Given the description of an element on the screen output the (x, y) to click on. 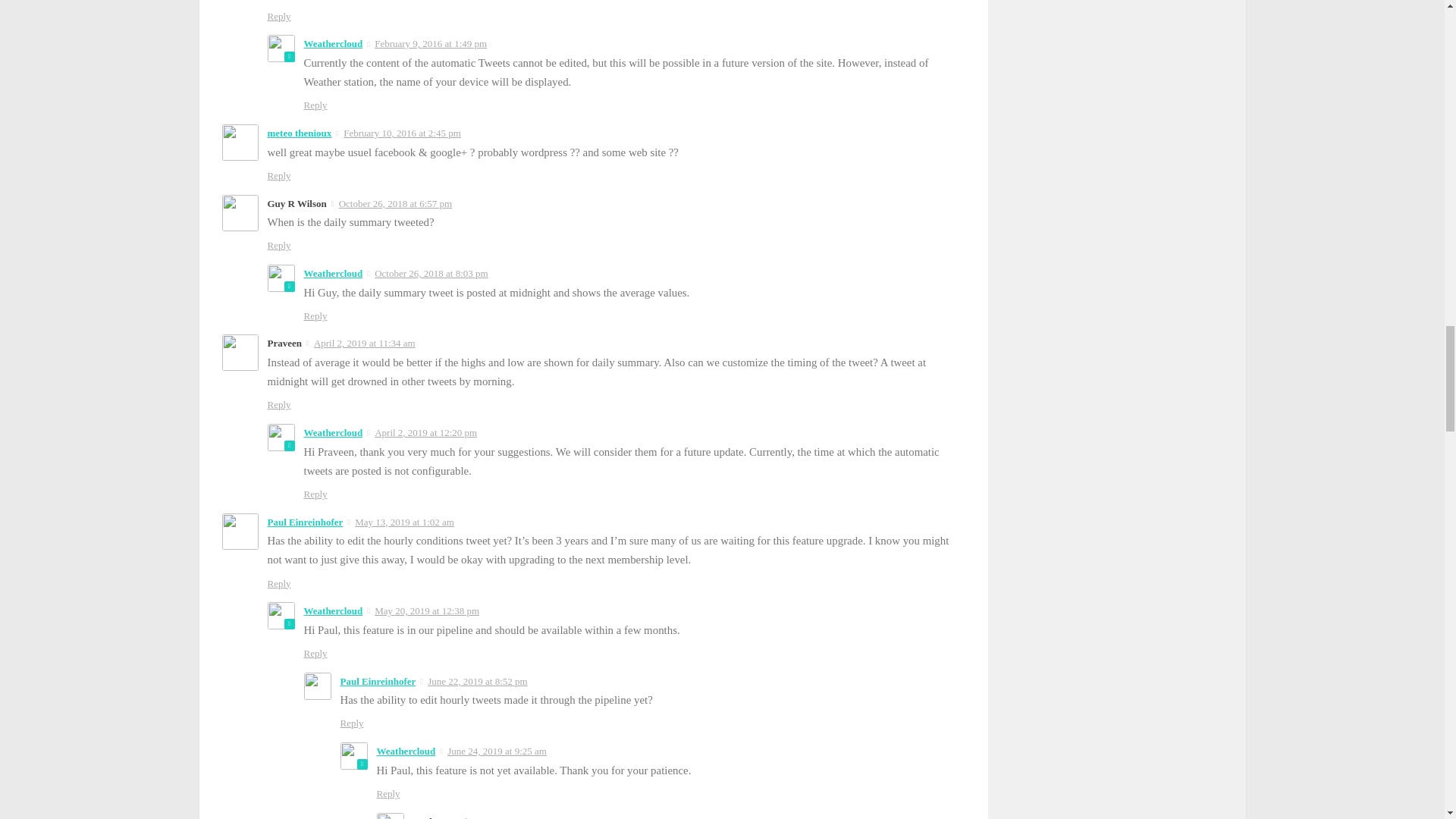
Reply (314, 315)
May 13, 2019 at 1:02 am (404, 521)
Reply (277, 174)
meteo thenioux (298, 132)
Reply (277, 583)
Reply (277, 16)
Reply (314, 104)
April 2, 2019 at 12:20 pm (425, 432)
Reply (314, 493)
Reply (277, 404)
